Given the description of an element on the screen output the (x, y) to click on. 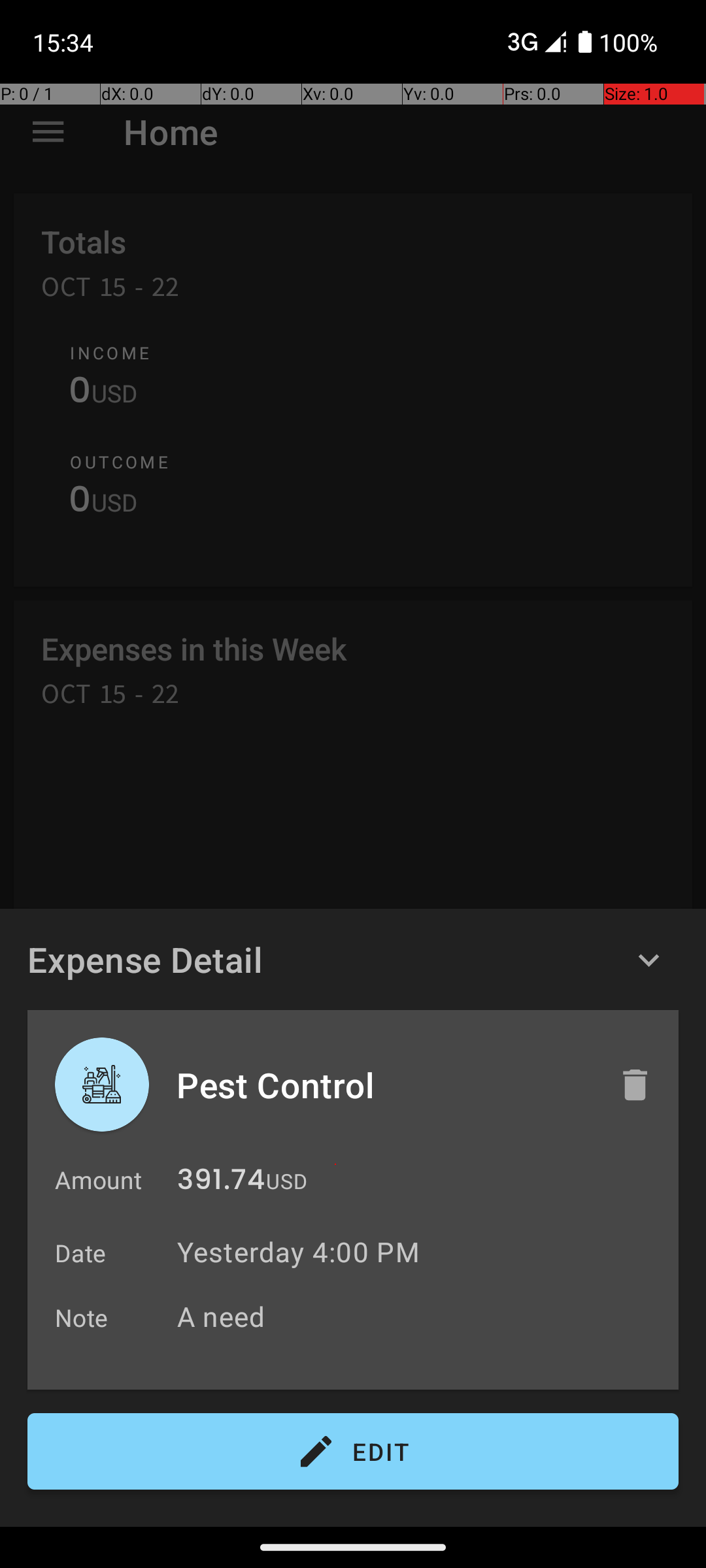
Pest Control Element type: android.widget.TextView (383, 1084)
391.74 Element type: android.widget.TextView (220, 1182)
Yesterday 4:00 PM Element type: android.widget.TextView (298, 1251)
A need Element type: android.widget.TextView (420, 1315)
